Given the description of an element on the screen output the (x, y) to click on. 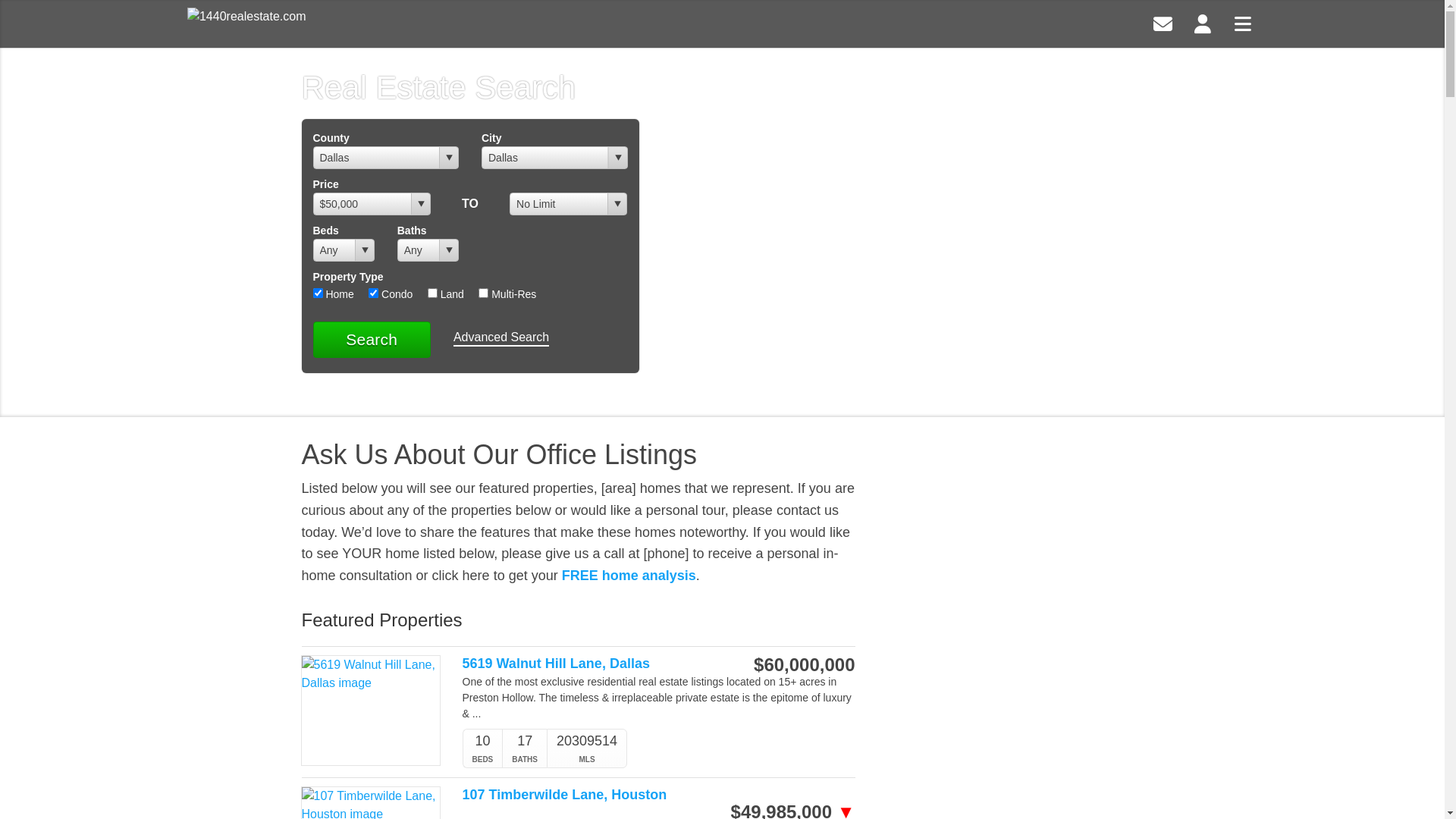
Search Element type: text (370, 339)
$60,000,000 Element type: text (803, 664)
1440realestate.com Element type: hover (246, 23)
5619 Walnut Hill Lane, Dallas Element type: text (599, 663)
Open contact form Element type: hover (1162, 22)
Menu Element type: hover (1242, 22)
Advanced Search Element type: text (501, 338)
107 Timberwilde Lane, Houston Element type: text (599, 795)
FREE home analysis Element type: text (628, 575)
Login or Signup Element type: hover (1202, 22)
